Given the description of an element on the screen output the (x, y) to click on. 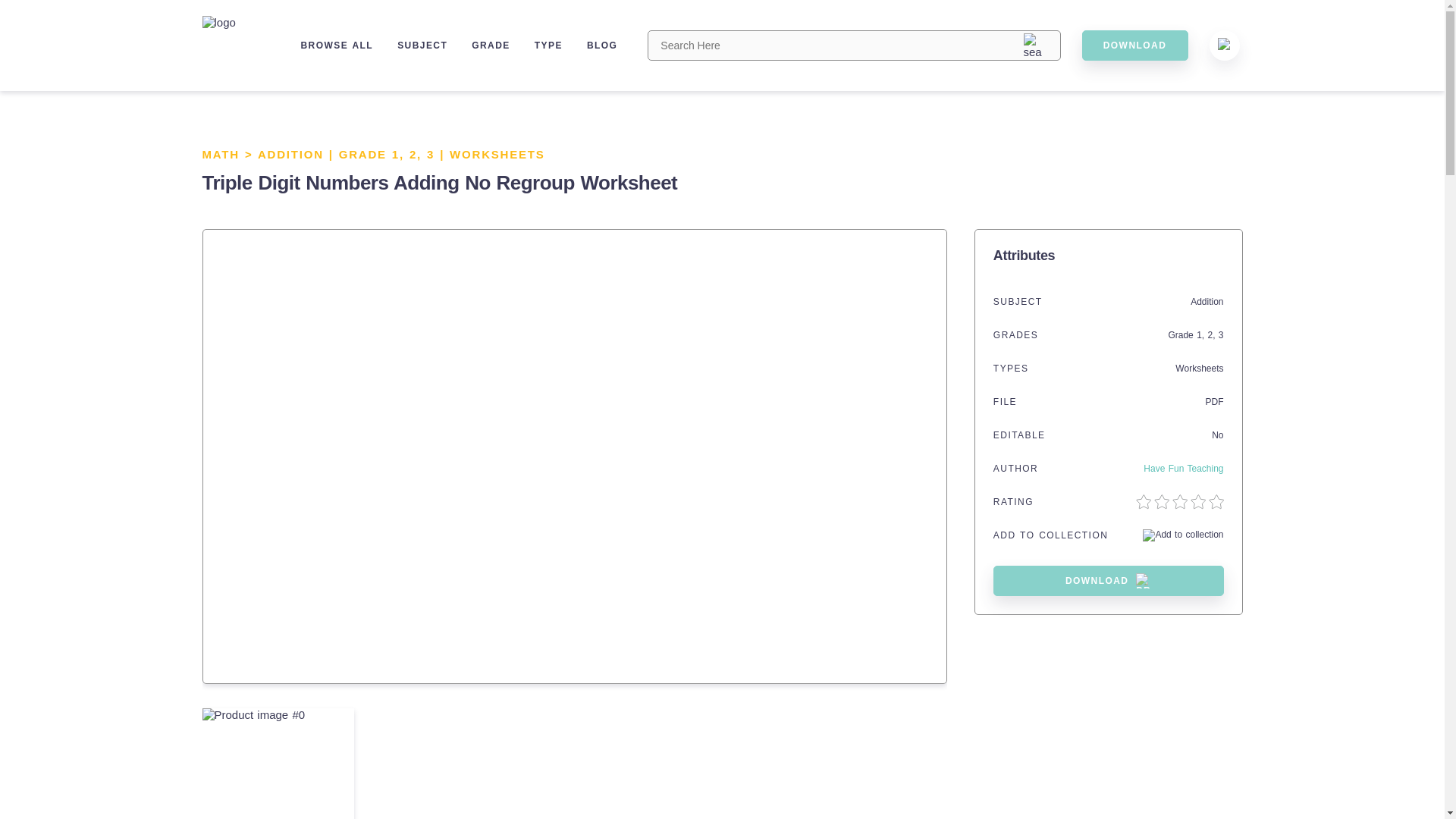
1, (1201, 335)
WORKSHEETS (496, 154)
BLOG (601, 45)
2, (1212, 335)
2, (417, 154)
Addition (1207, 301)
Have Fun Teaching (1182, 468)
ADDITION (290, 154)
Worksheets (1198, 368)
DOWNLOAD (1134, 45)
